Given the description of an element on the screen output the (x, y) to click on. 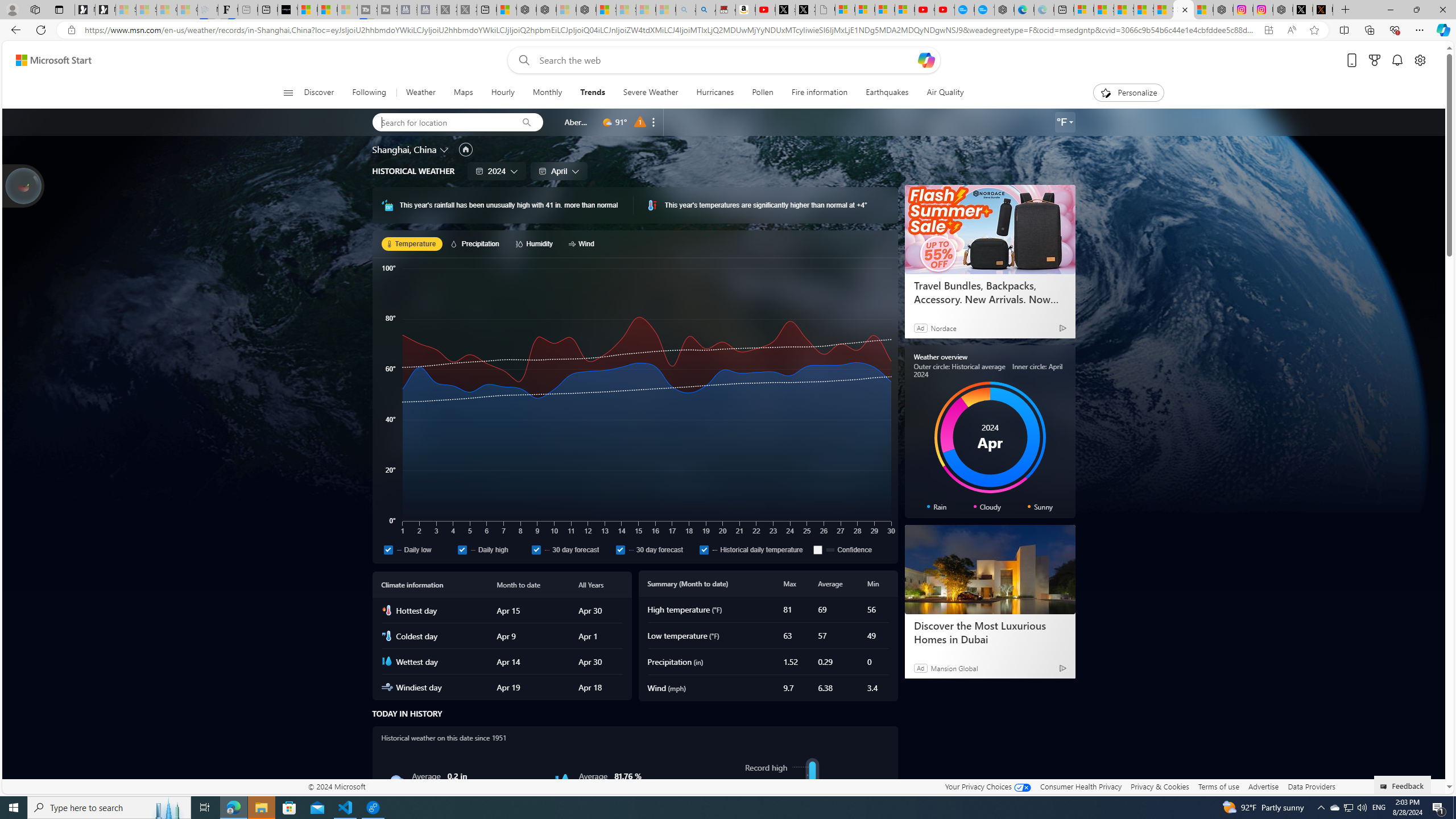
30 day forecast (619, 549)
Class: feedback_link_icon-DS-EntryPoint1-1 (1384, 786)
Aberdeen (576, 121)
Severe Weather (649, 92)
Newsletter Sign Up (105, 9)
Skip to footer (46, 59)
Nordace - Nordace has arrived Hong Kong (1004, 9)
Privacy & Cookies (1160, 785)
